Given the description of an element on the screen output the (x, y) to click on. 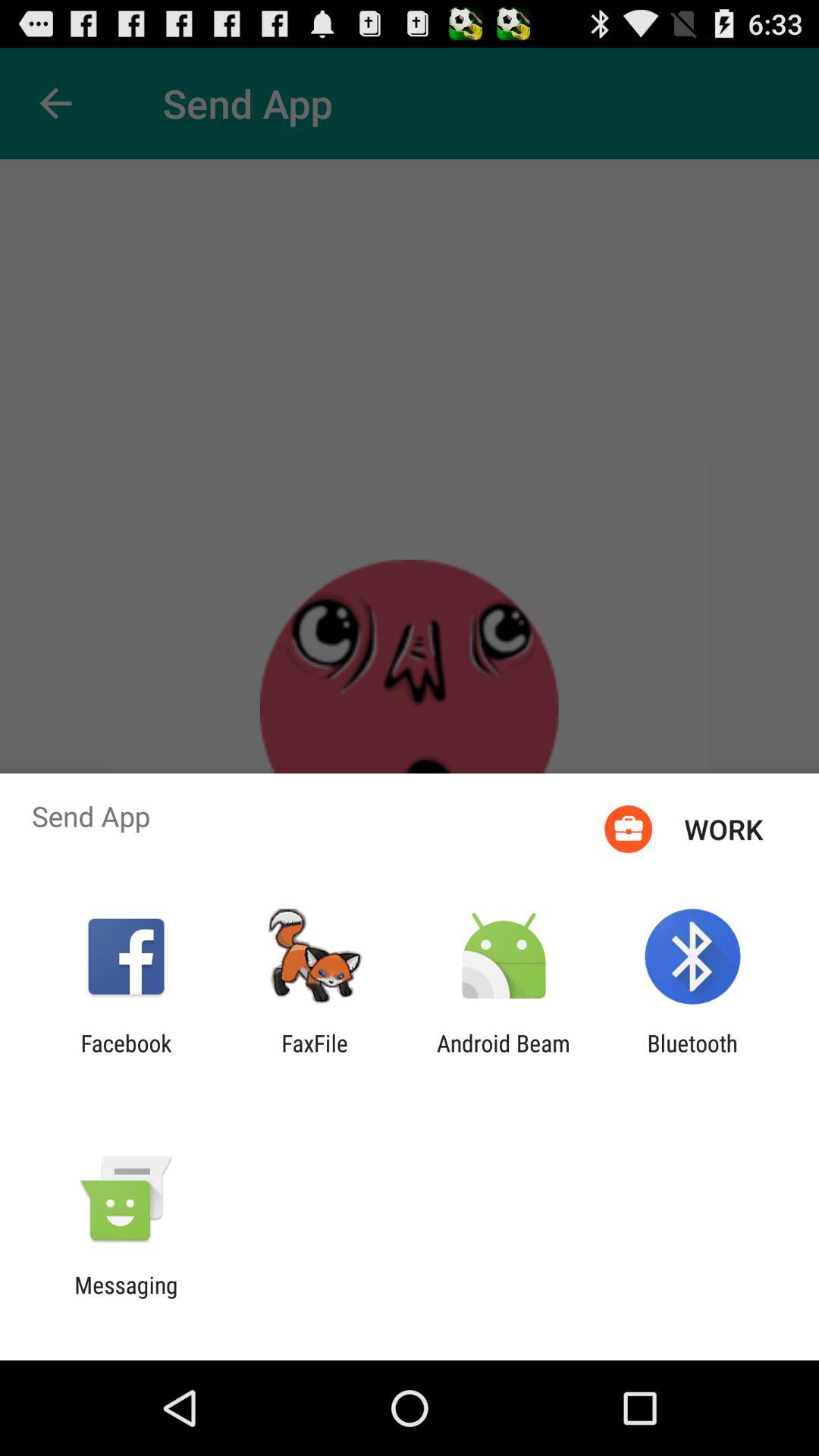
press the bluetooth at the bottom right corner (692, 1056)
